Given the description of an element on the screen output the (x, y) to click on. 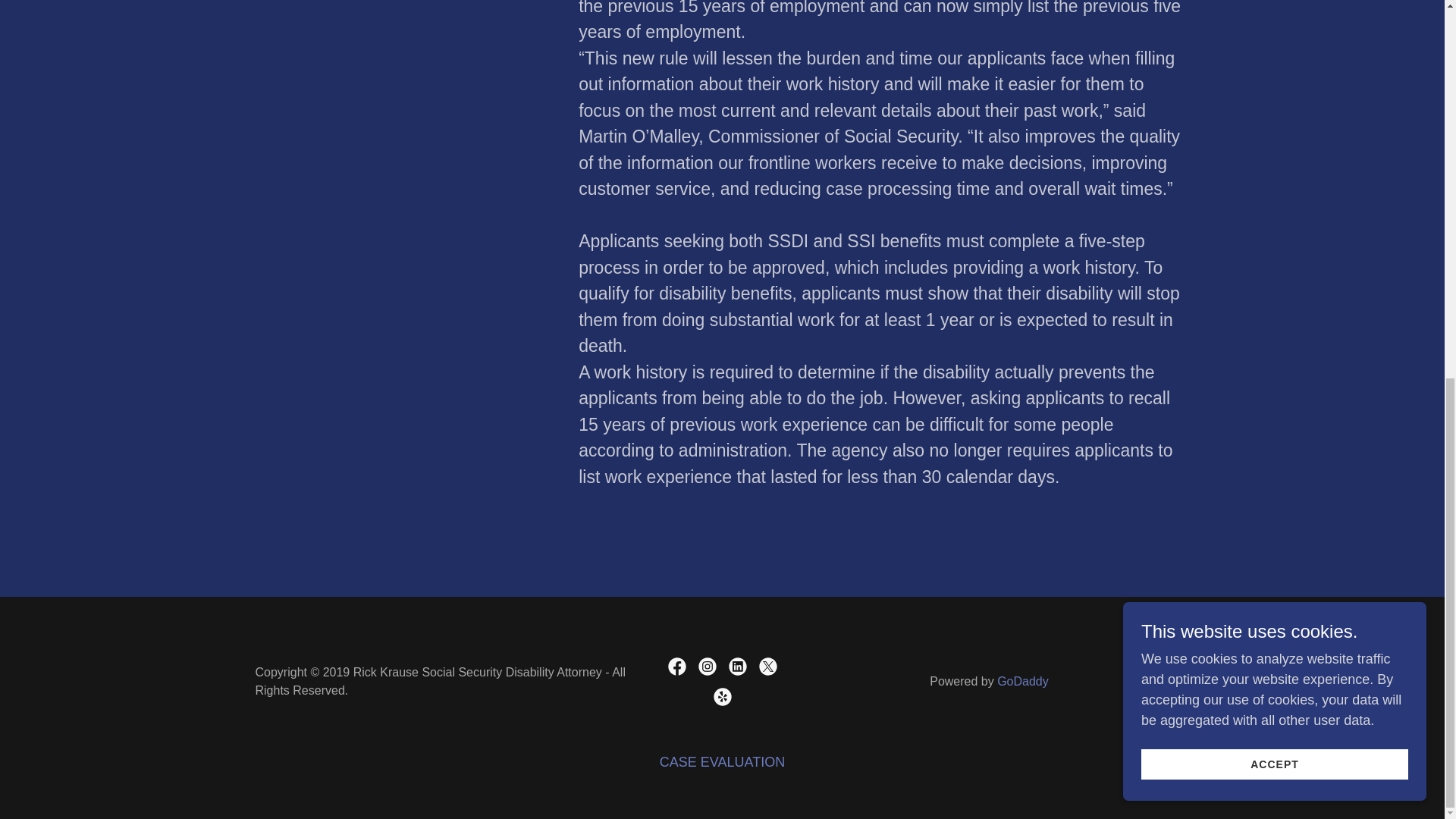
GoDaddy (1022, 680)
ACCEPT (1274, 64)
CASE EVALUATION (721, 762)
